Given the description of an element on the screen output the (x, y) to click on. 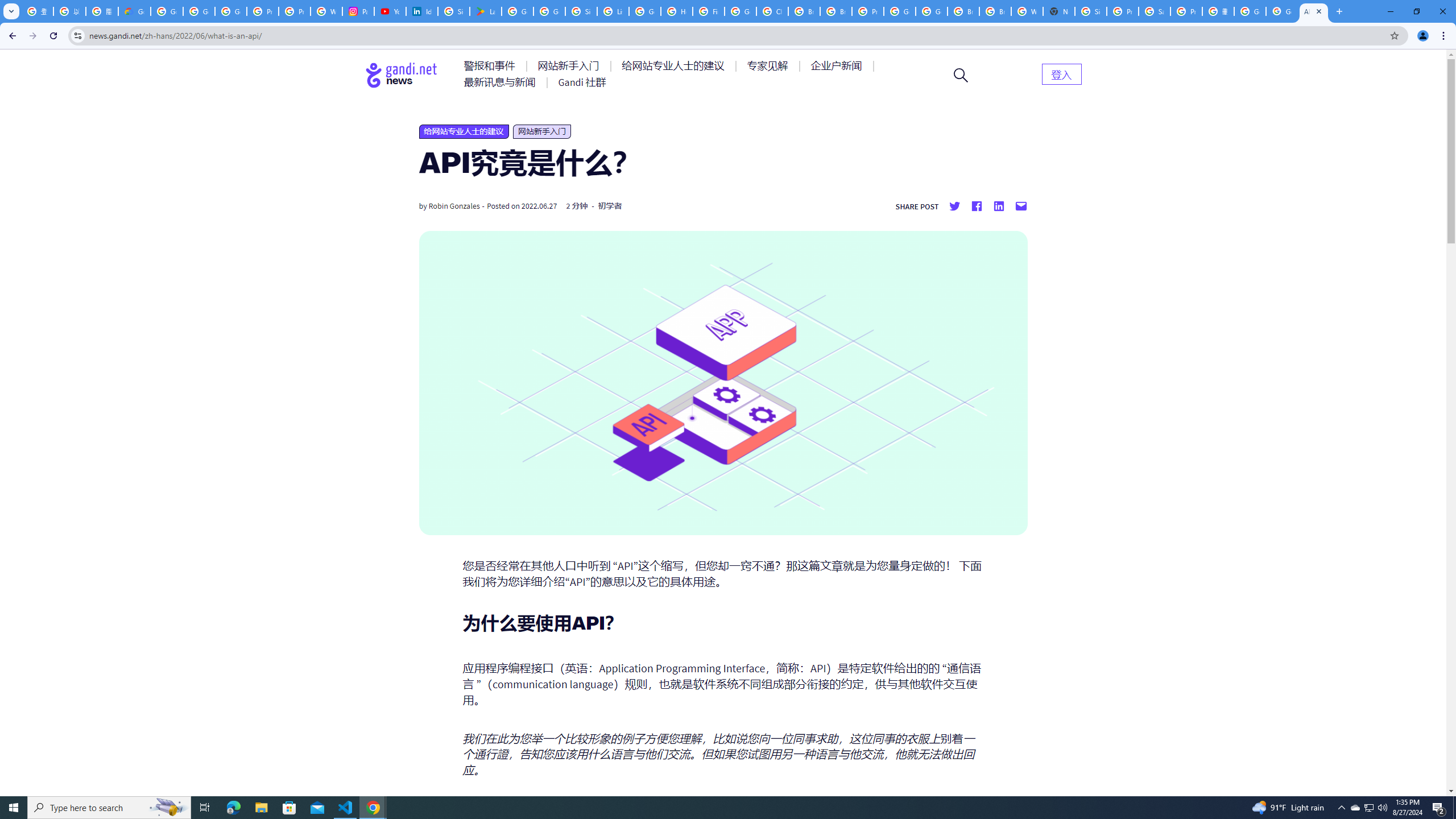
AutomationID: menu-item-82399 (1061, 73)
AutomationID: menu-item-77764 (769, 65)
Last Shelter: Survival - Apps on Google Play (485, 11)
Share on facebook (975, 205)
New Tab (1059, 11)
